Given the description of an element on the screen output the (x, y) to click on. 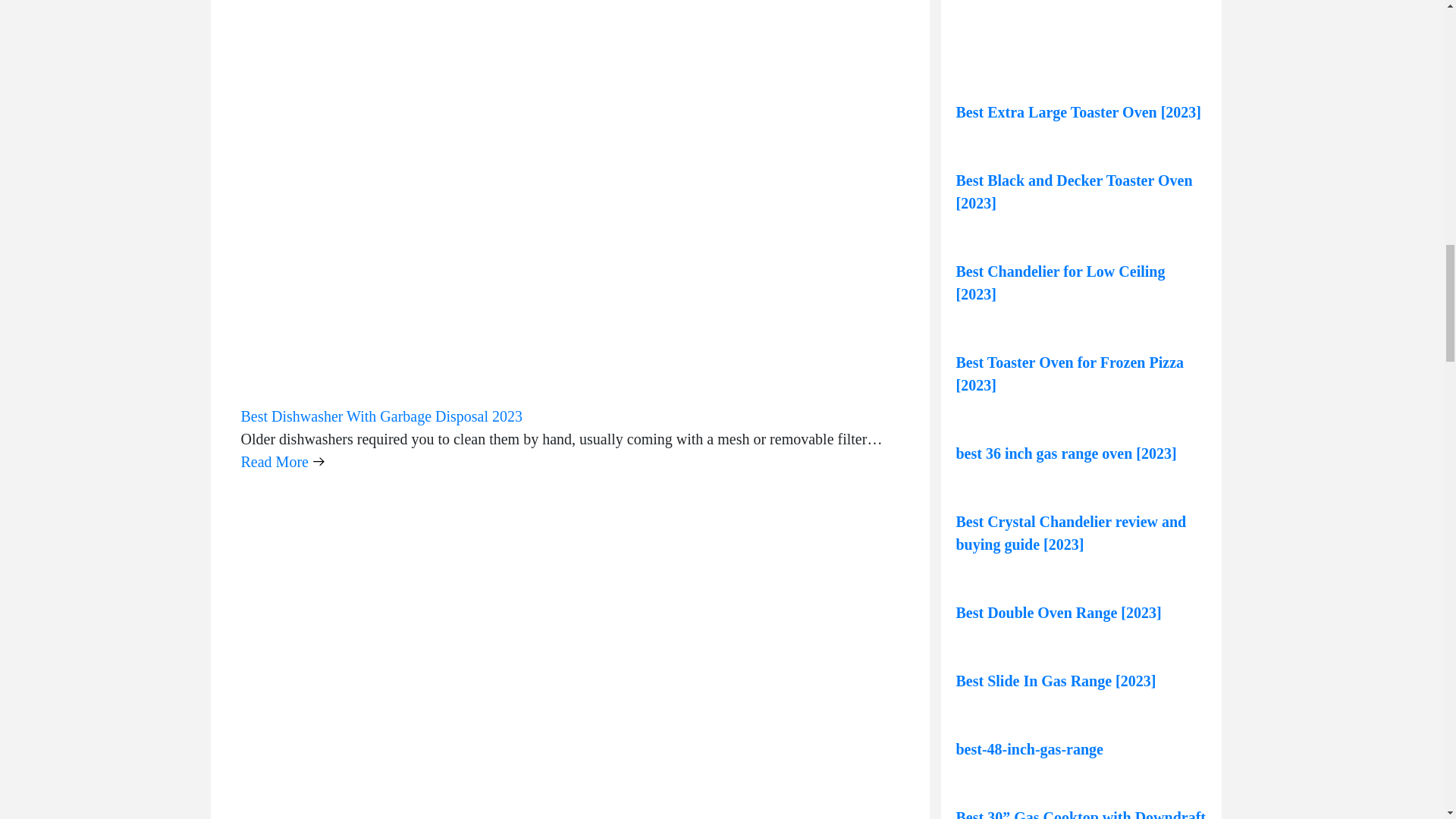
Best Dishwasher With Garbage Disposal 2023 (381, 416)
Read More (282, 461)
